Given the description of an element on the screen output the (x, y) to click on. 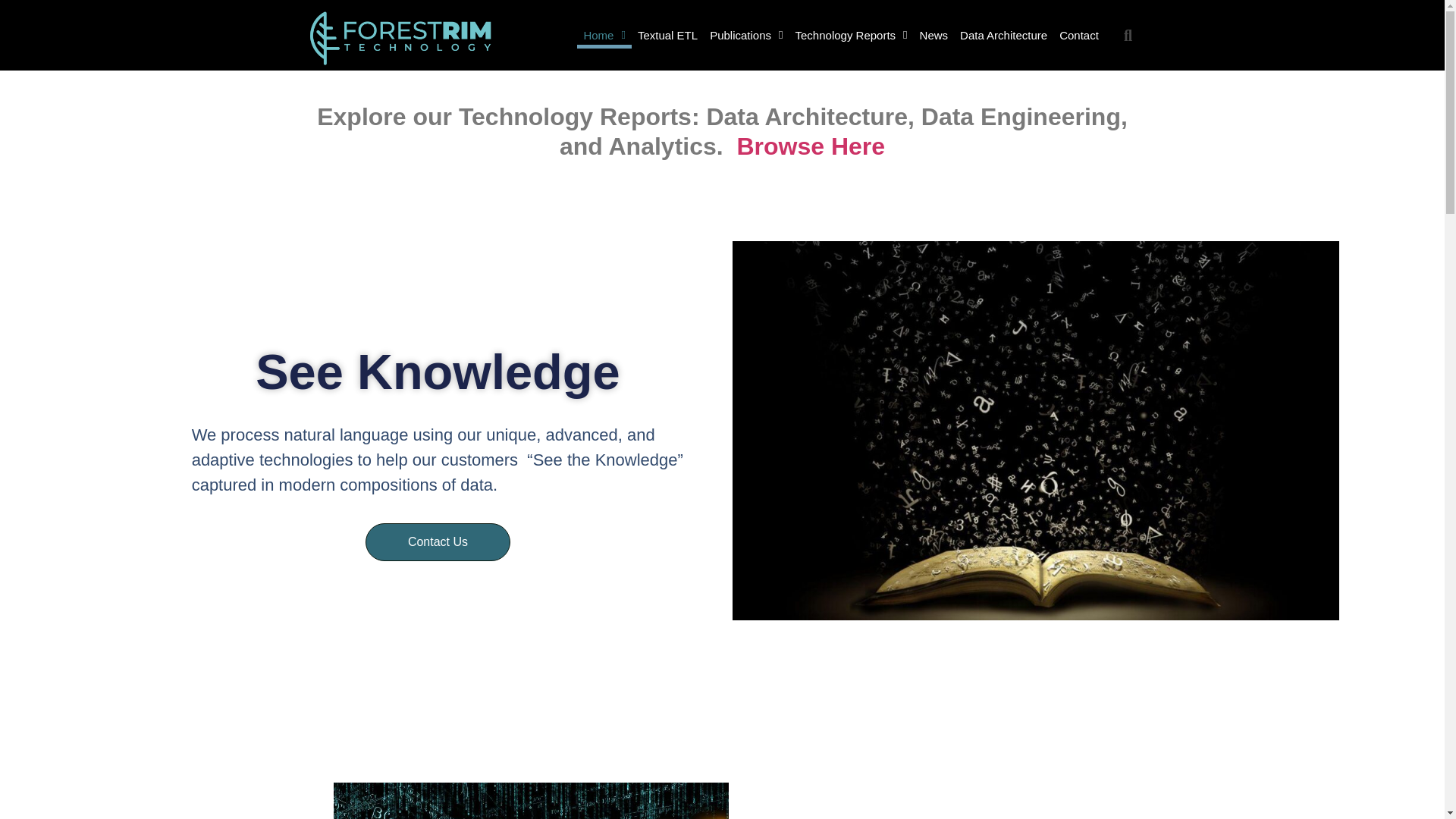
Home (603, 35)
News (934, 35)
Textual ETL (667, 35)
Technology Reports (851, 35)
Data Architecture (1002, 35)
Browse Here (810, 145)
Publications (746, 35)
Contact Us (438, 542)
Contact (1078, 35)
